Given the description of an element on the screen output the (x, y) to click on. 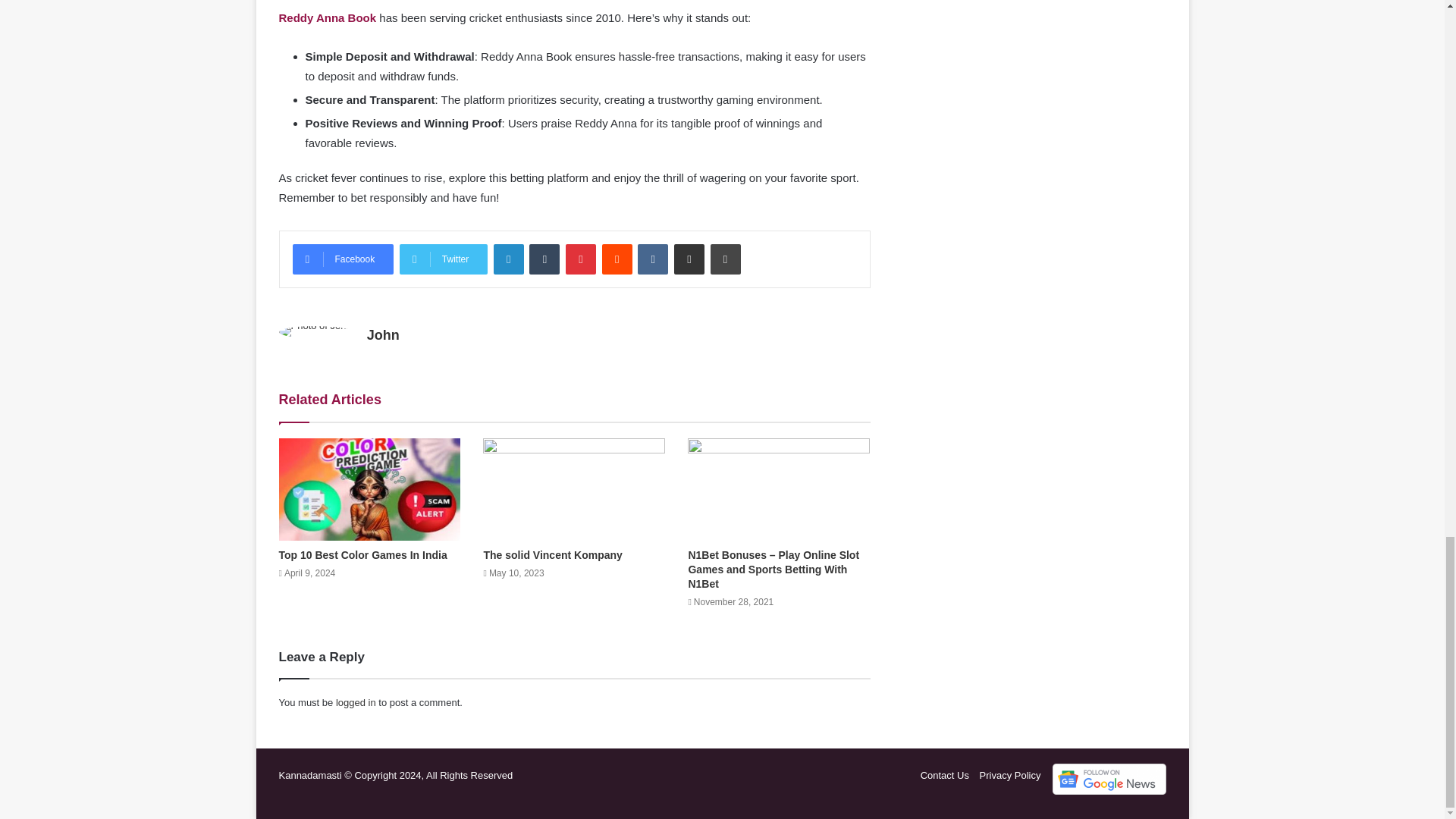
Tumblr (544, 259)
John (382, 335)
Share via Email (689, 259)
VKontakte (652, 259)
Print (725, 259)
Share via Email (689, 259)
Reddit (616, 259)
Facebook (343, 259)
Reddit (616, 259)
LinkedIn (508, 259)
